Given the description of an element on the screen output the (x, y) to click on. 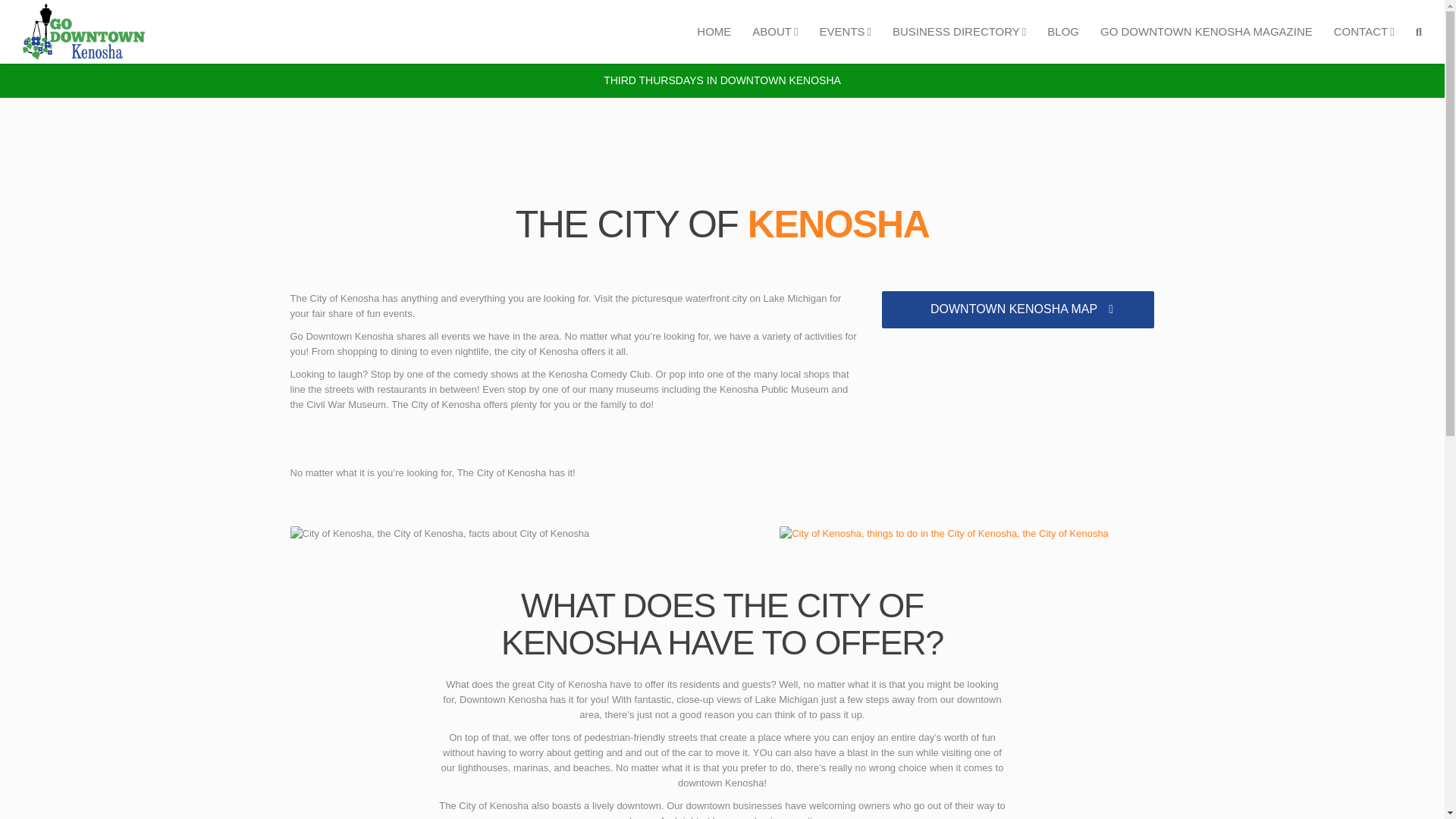
City of Kenosha (439, 533)
EVENTS (845, 31)
ABOUT (774, 31)
GO DOWNTOWN KENOSHA MAGAZINE (1206, 31)
The City of Kenosha (943, 533)
CONTACT (1364, 31)
BUSINESS DIRECTORY (959, 31)
